Given the description of an element on the screen output the (x, y) to click on. 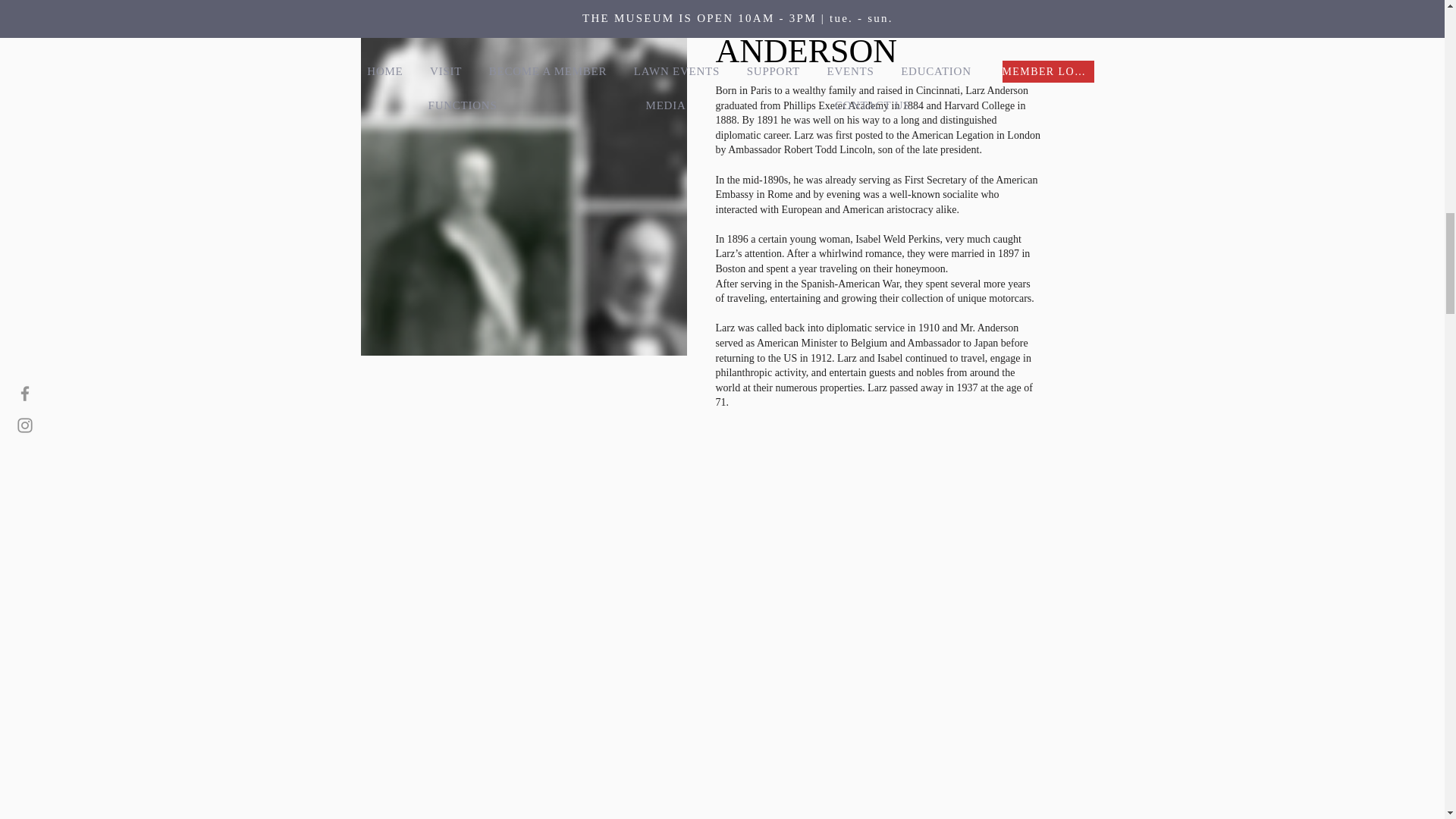
isabel.png (524, 177)
